Given the description of an element on the screen output the (x, y) to click on. 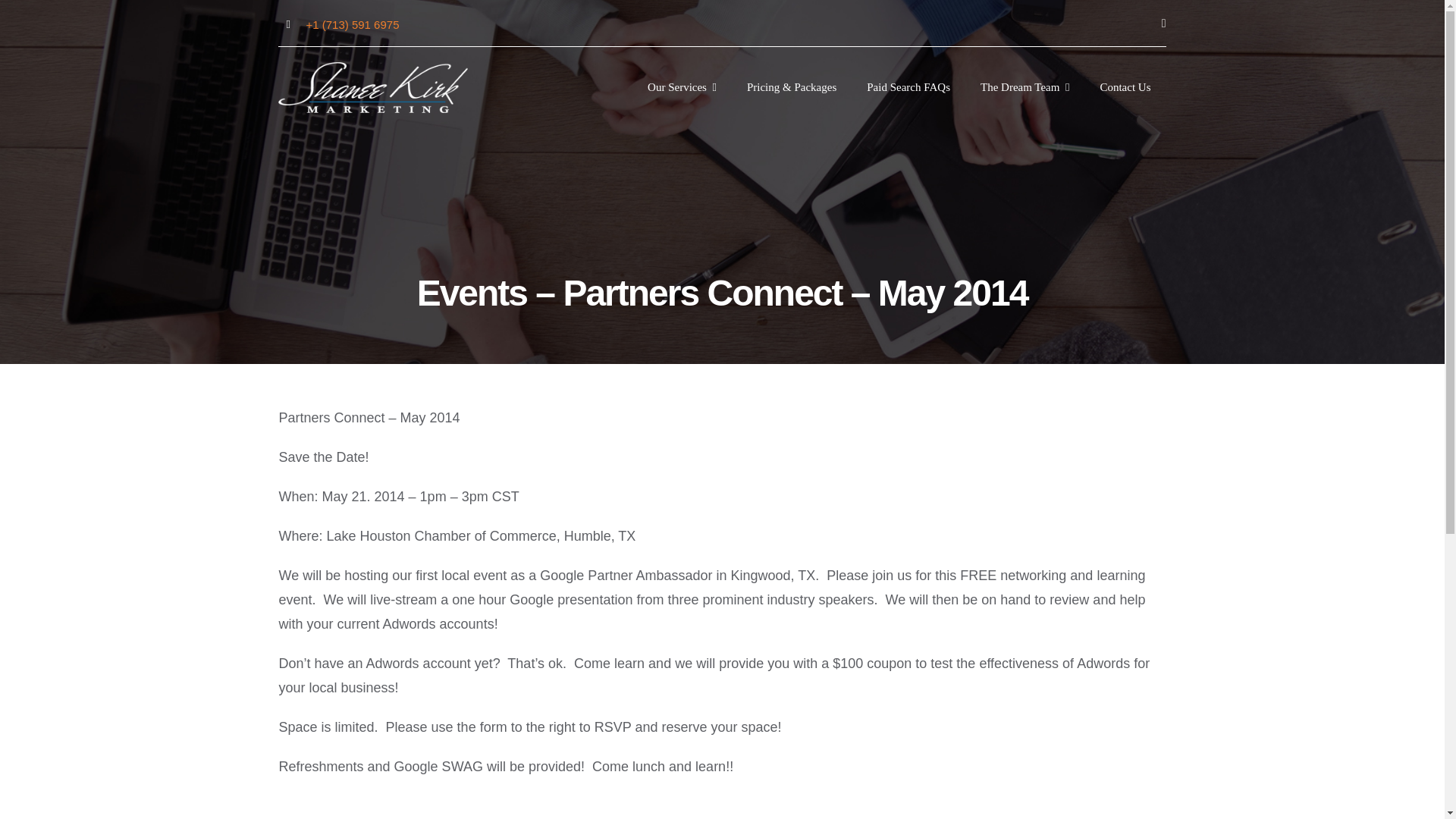
Contact Us (1125, 87)
Paid Search FAQs (908, 87)
Our Services (681, 87)
The Dream Team (1024, 87)
